Given the description of an element on the screen output the (x, y) to click on. 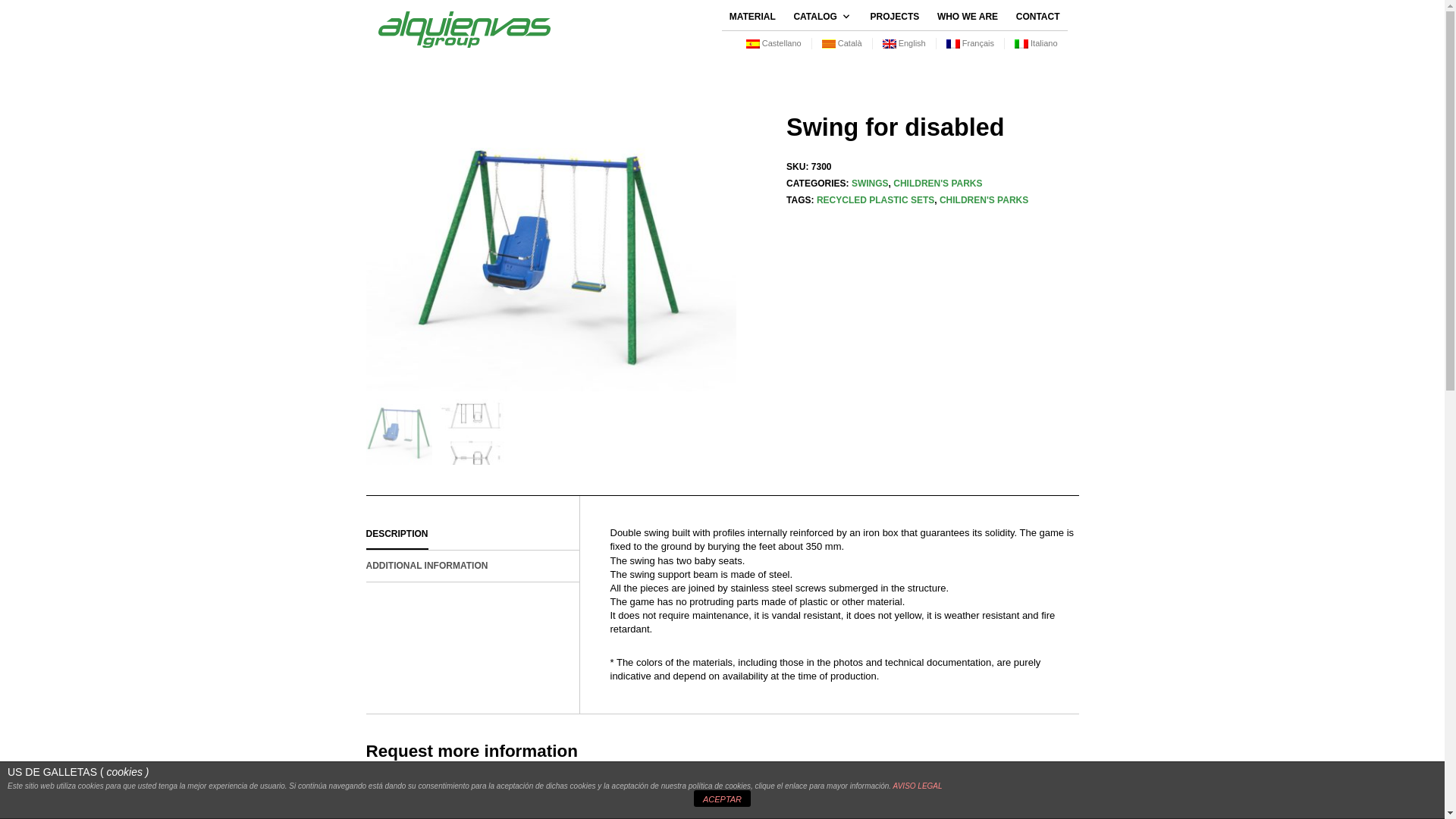
PROJECTS (895, 17)
CONTACT (1038, 17)
MATERIAL (752, 17)
Columpio discapacitado (550, 252)
CATALOG (818, 17)
WHO WE ARE (968, 17)
